Given the description of an element on the screen output the (x, y) to click on. 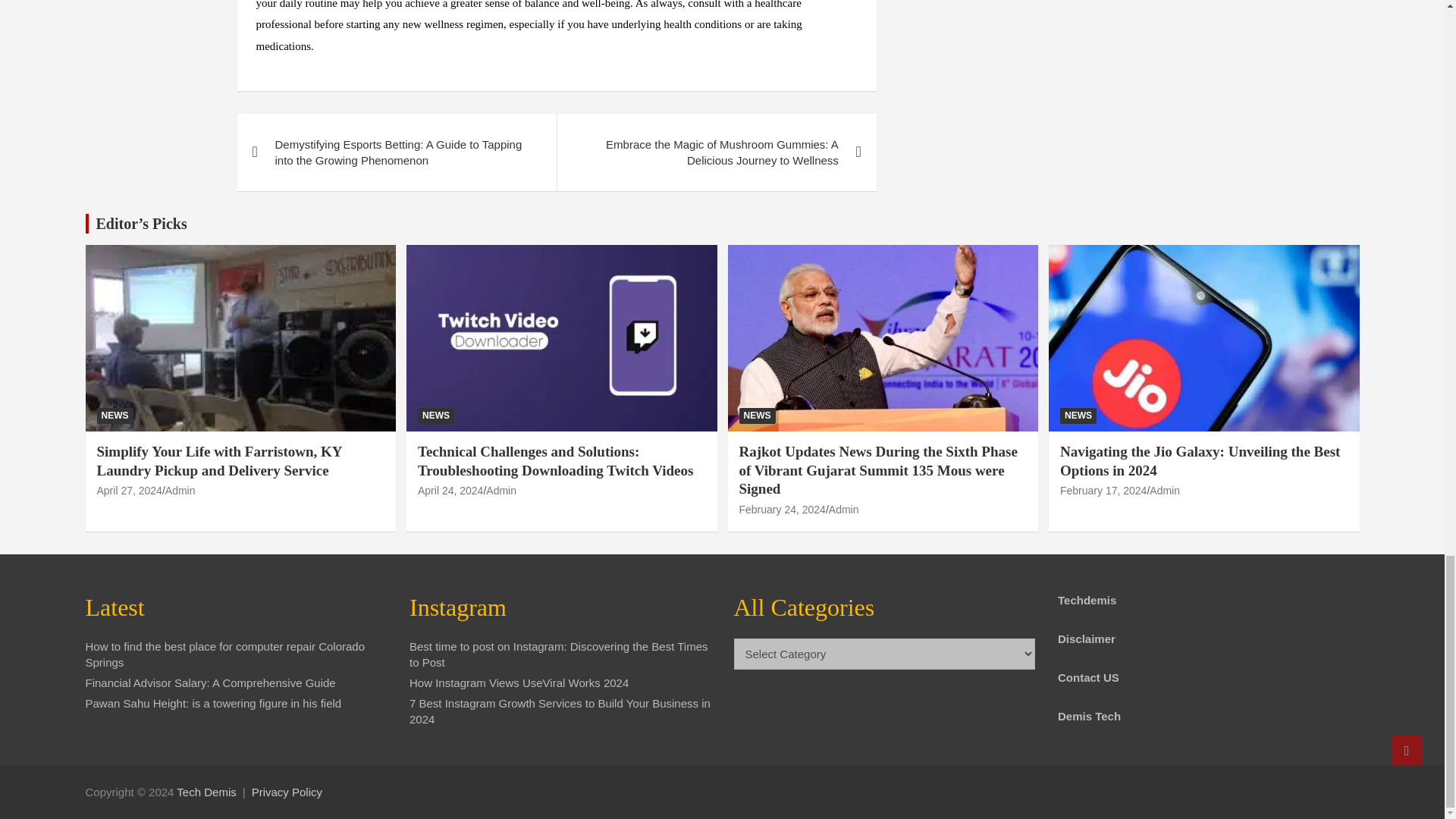
Tech Demis (205, 791)
